Given the description of an element on the screen output the (x, y) to click on. 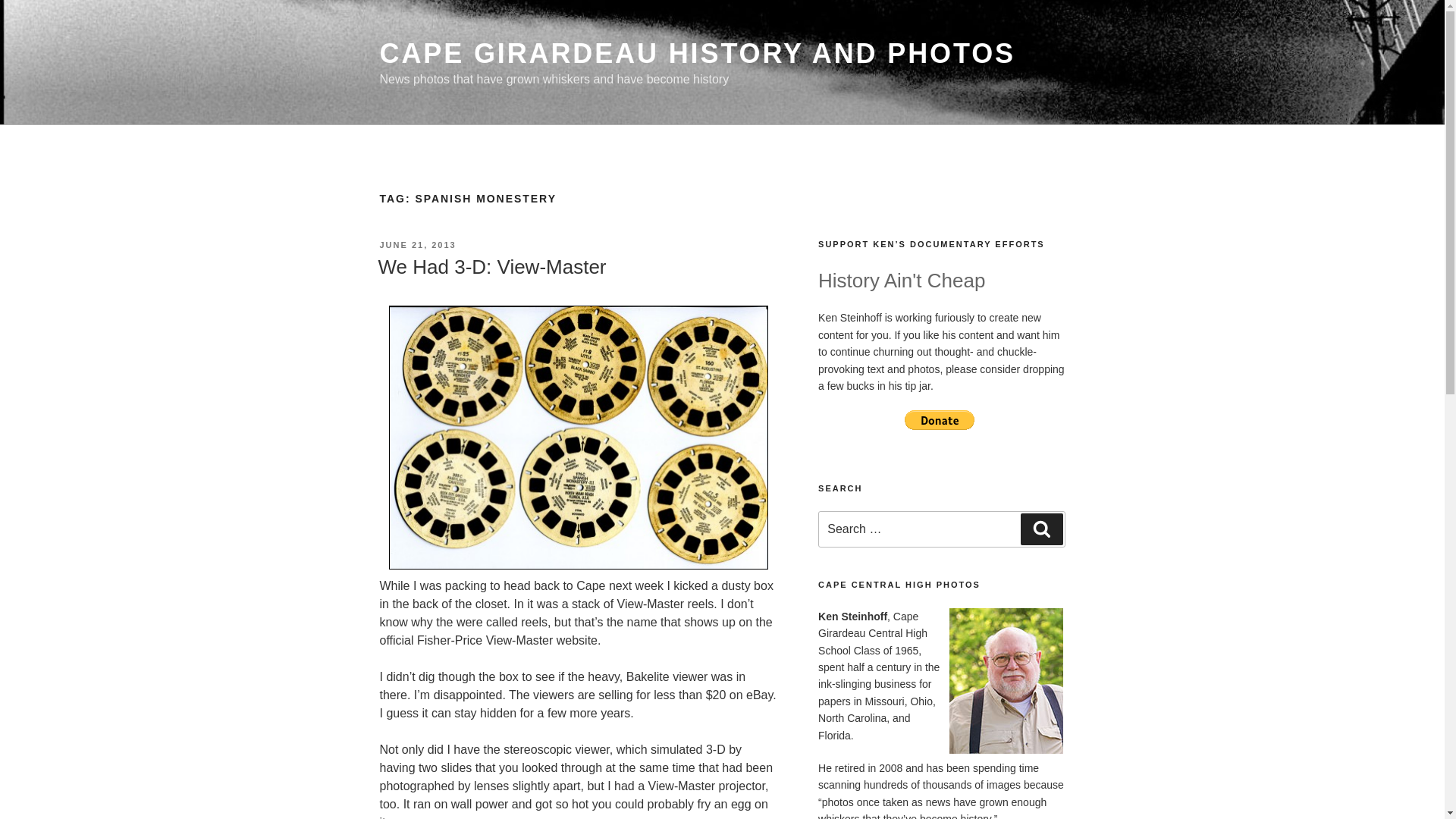
We Had 3-D: View-Master (491, 266)
JUNE 21, 2013 (416, 244)
Search (1041, 529)
CAPE GIRARDEAU HISTORY AND PHOTOS (696, 52)
